Given the description of an element on the screen output the (x, y) to click on. 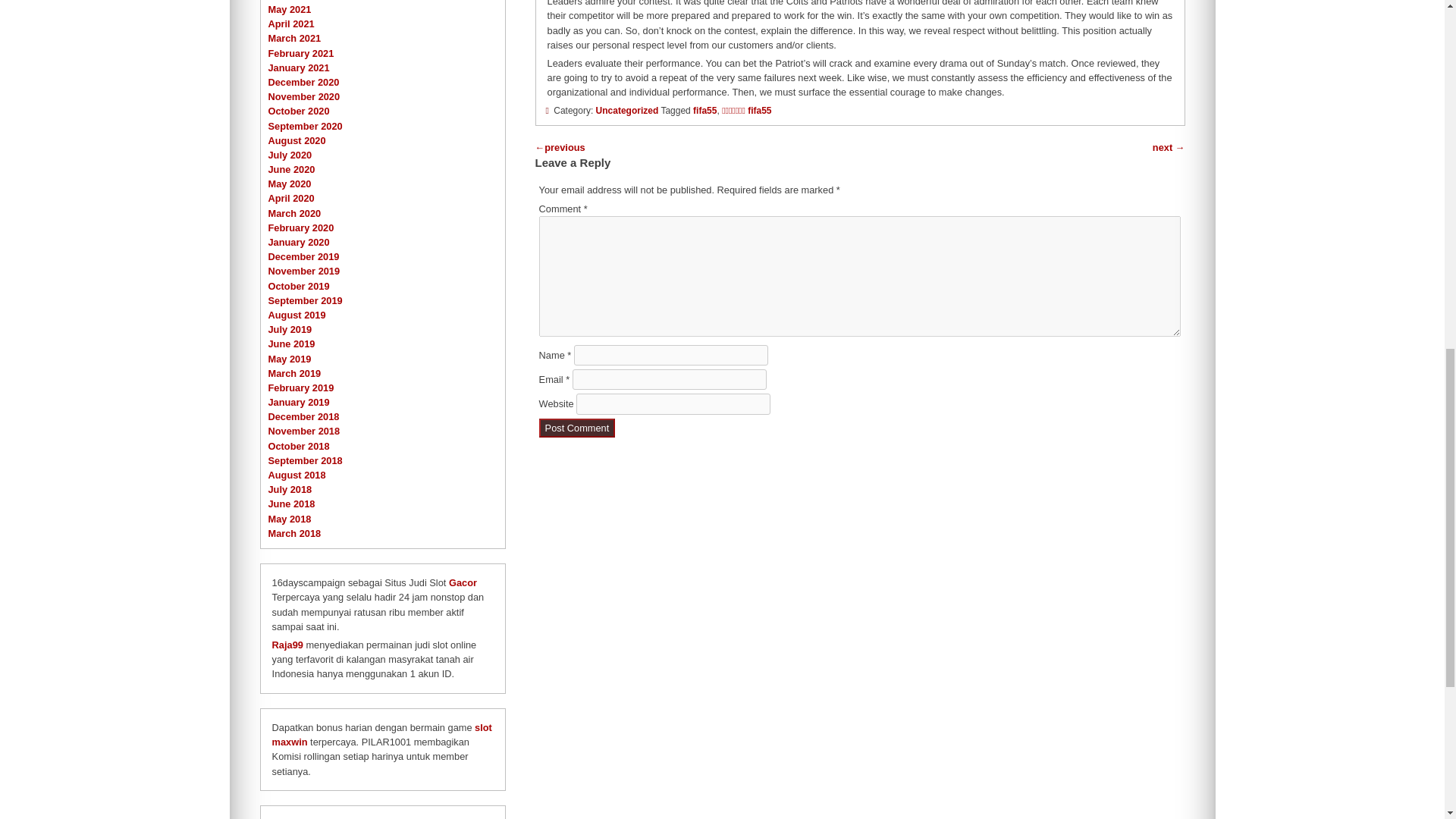
Post Comment (576, 427)
Post Comment (576, 427)
fifa55 (704, 110)
Uncategorized (627, 110)
